Given the description of an element on the screen output the (x, y) to click on. 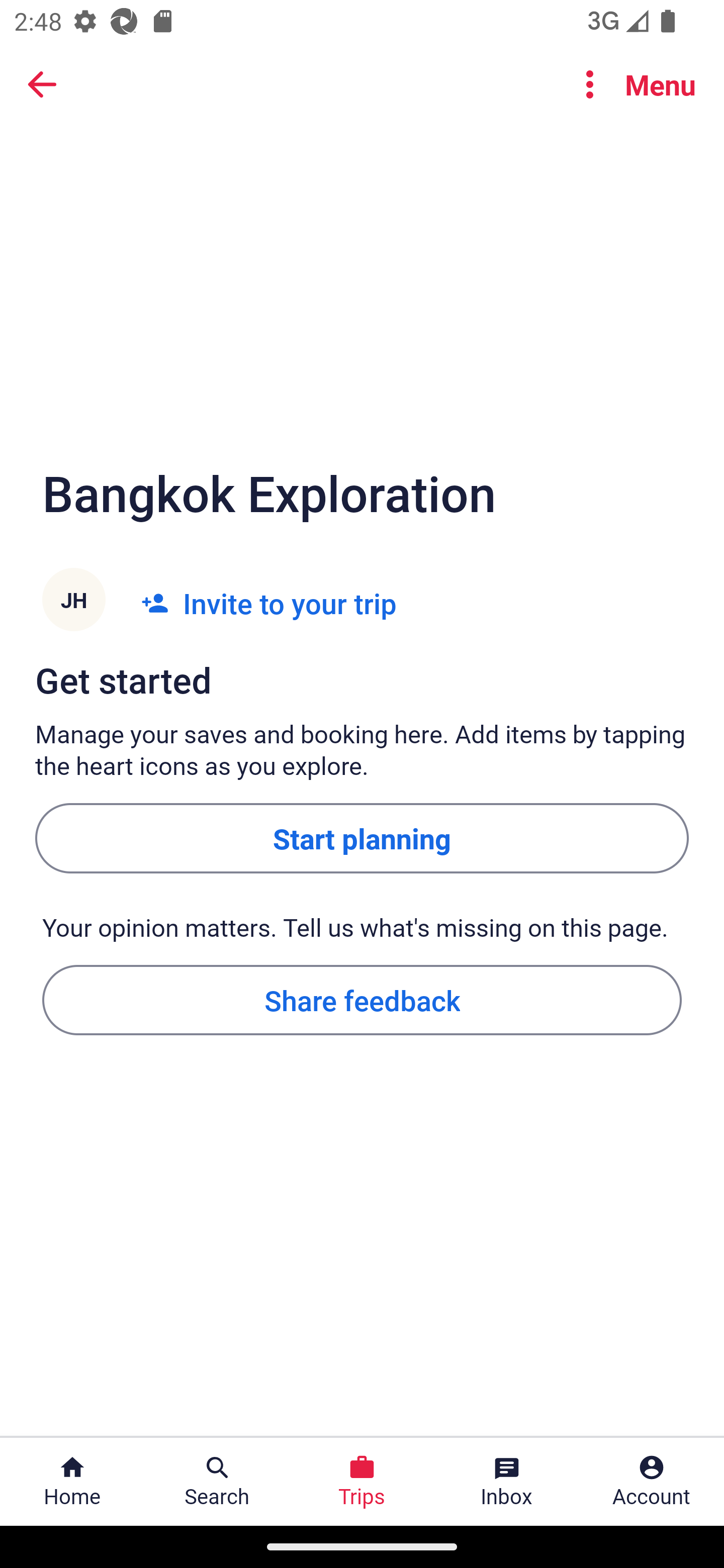
Menu Menu Button (632, 84)
BACK (41, 83)
JH J​H (73, 602)
Share feedback Button Share feedback (361, 999)
Home Home Button (72, 1481)
Search Search Button (216, 1481)
Inbox Inbox Button (506, 1481)
Account Profile. Button (651, 1481)
